Given the description of an element on the screen output the (x, y) to click on. 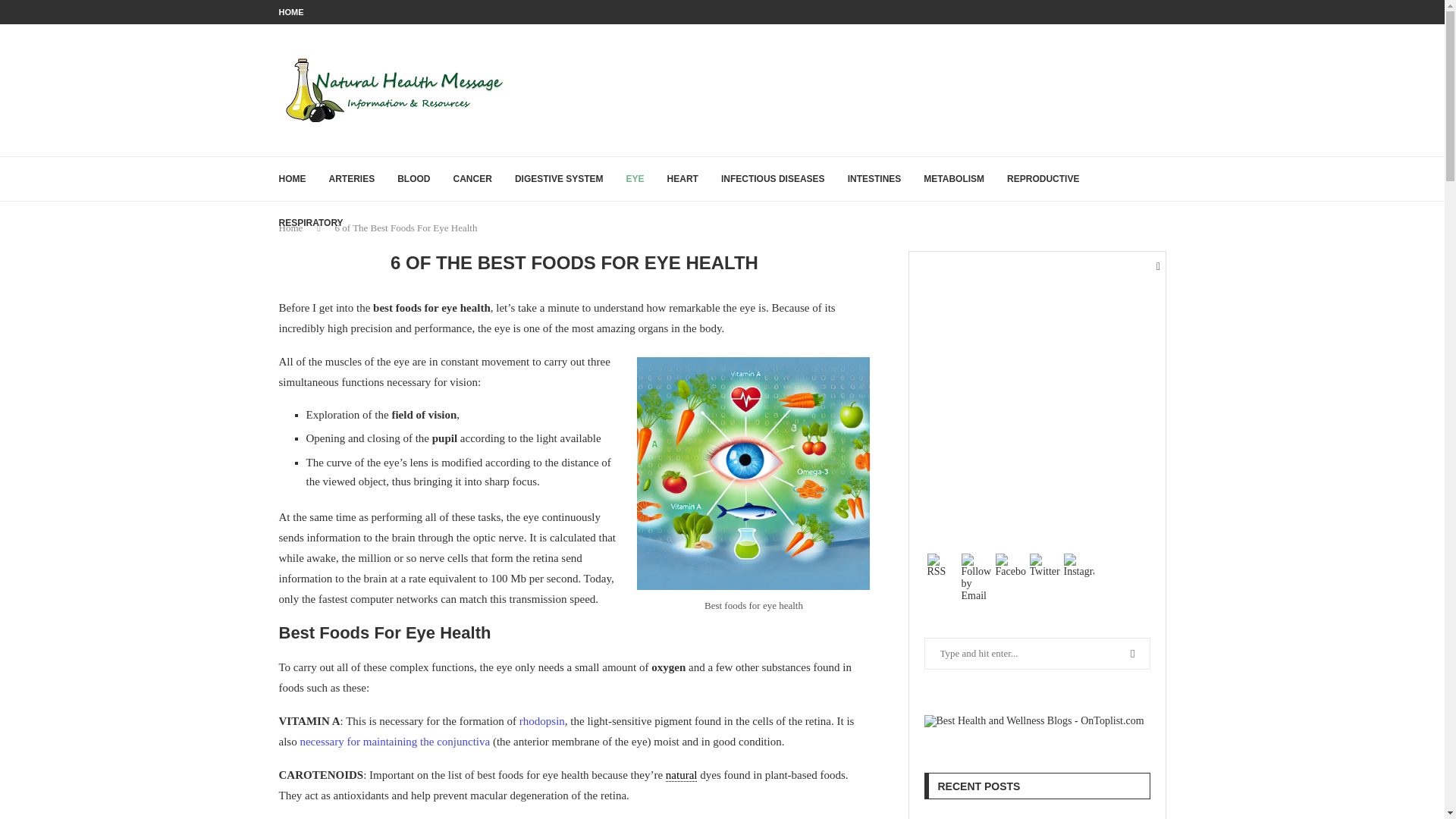
METABOLISM (953, 178)
Best Sources of Vitamin A (394, 741)
rhodopsin (541, 720)
Home (290, 227)
RESPIRATORY (311, 222)
necessary for maintaining the conjunctiva (394, 741)
ARTERIES (352, 178)
HOME (291, 12)
DIGESTIVE SYSTEM (559, 178)
INFECTIOUS DISEASES (772, 178)
